Given the description of an element on the screen output the (x, y) to click on. 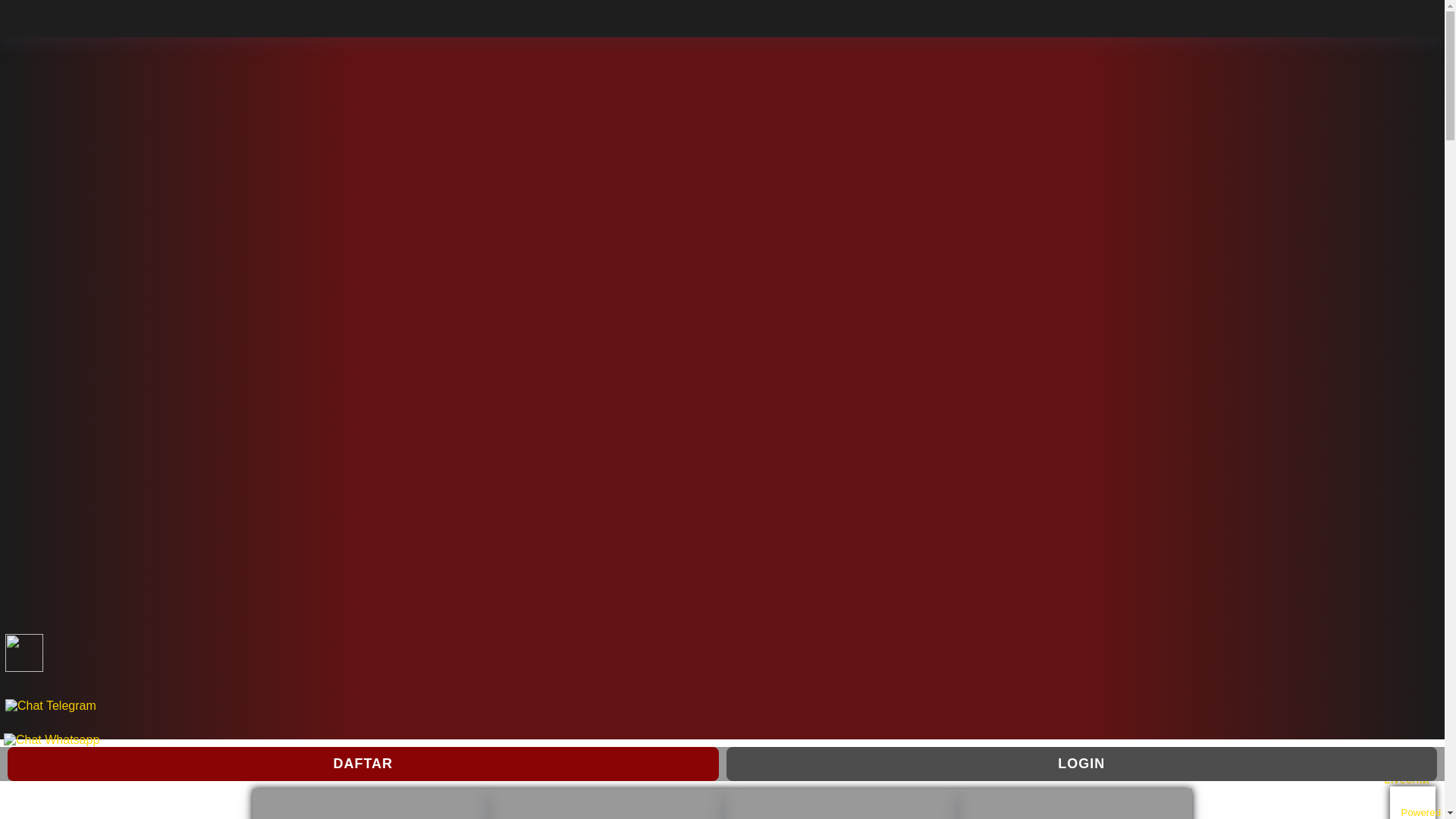
Previous item in carousel (1 of 1) Element type: hover (12, 388)
DAFTAR Element type: text (362, 763)
Livechat Element type: hover (1411, 773)
LOGIN Element type: text (1081, 763)
Next item in carousel (1 of 1) Element type: hover (1431, 388)
